Given the description of an element on the screen output the (x, y) to click on. 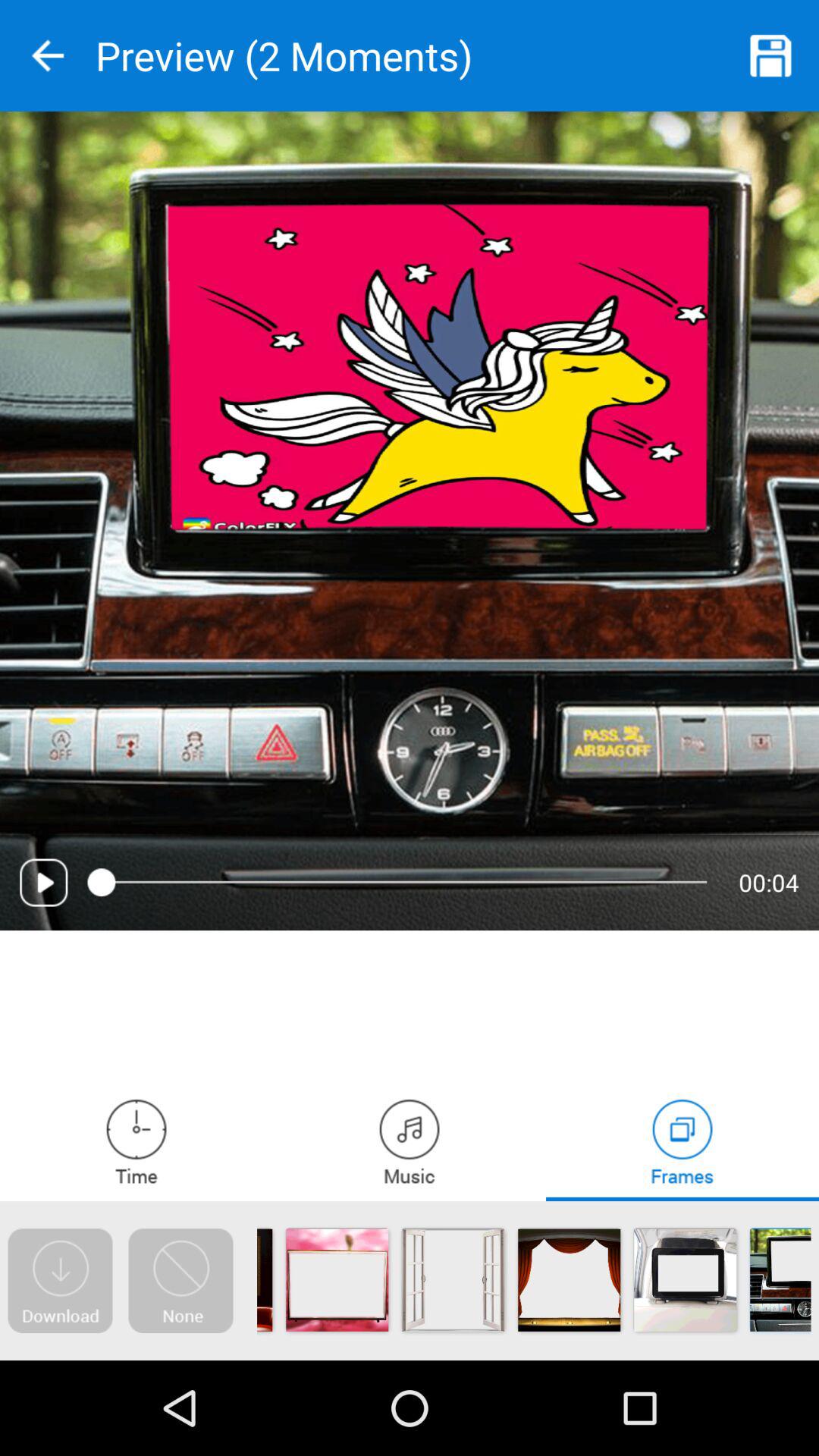
none (180, 1280)
